Given the description of an element on the screen output the (x, y) to click on. 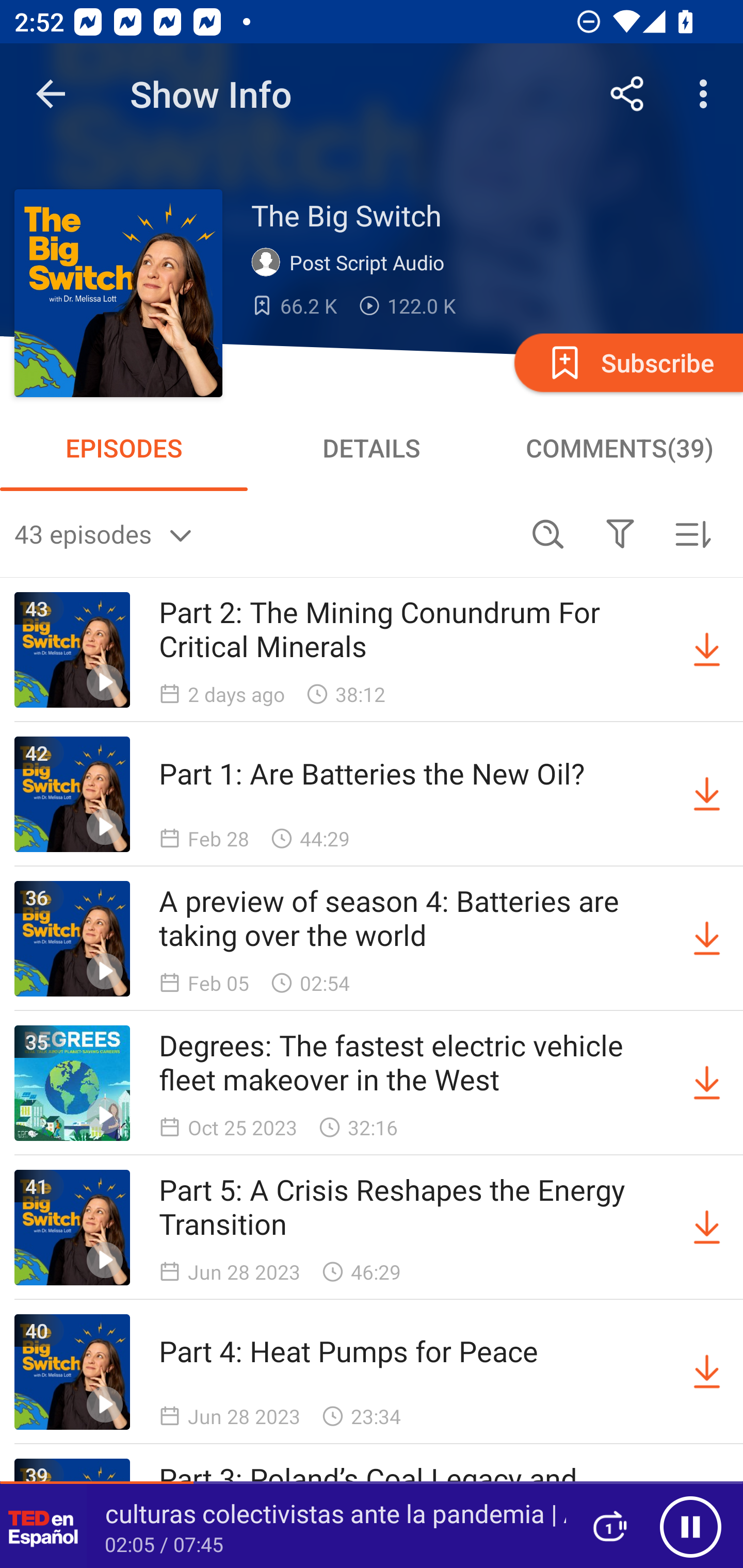
Navigate up (50, 93)
Share (626, 93)
More options (706, 93)
Post Script Audio (352, 262)
Subscribe (627, 361)
EPISODES (123, 447)
DETAILS (371, 447)
COMMENTS(39) (619, 447)
43 episodes  (262, 533)
 Search (547, 533)
 (619, 533)
 Sorted by newest first (692, 533)
Download (706, 649)
Download (706, 793)
Download (706, 939)
Download (706, 1083)
Download (706, 1227)
Download (706, 1371)
Pause (690, 1526)
